Given the description of an element on the screen output the (x, y) to click on. 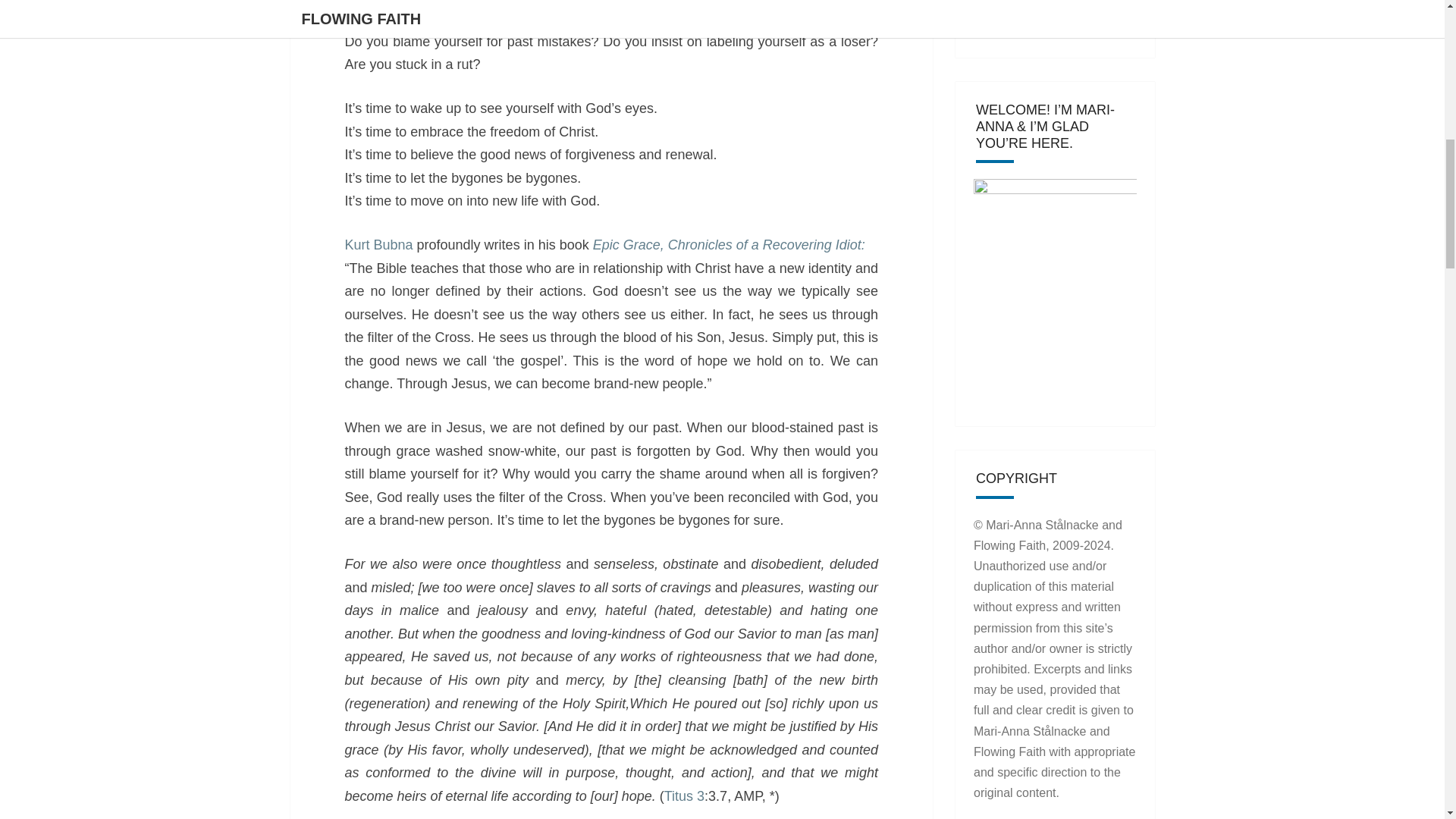
Titus 3 (683, 795)
Kurt Bubna (379, 244)
Epic Grace, Chronicles of a Recovering Idiot: (728, 244)
